Given the description of an element on the screen output the (x, y) to click on. 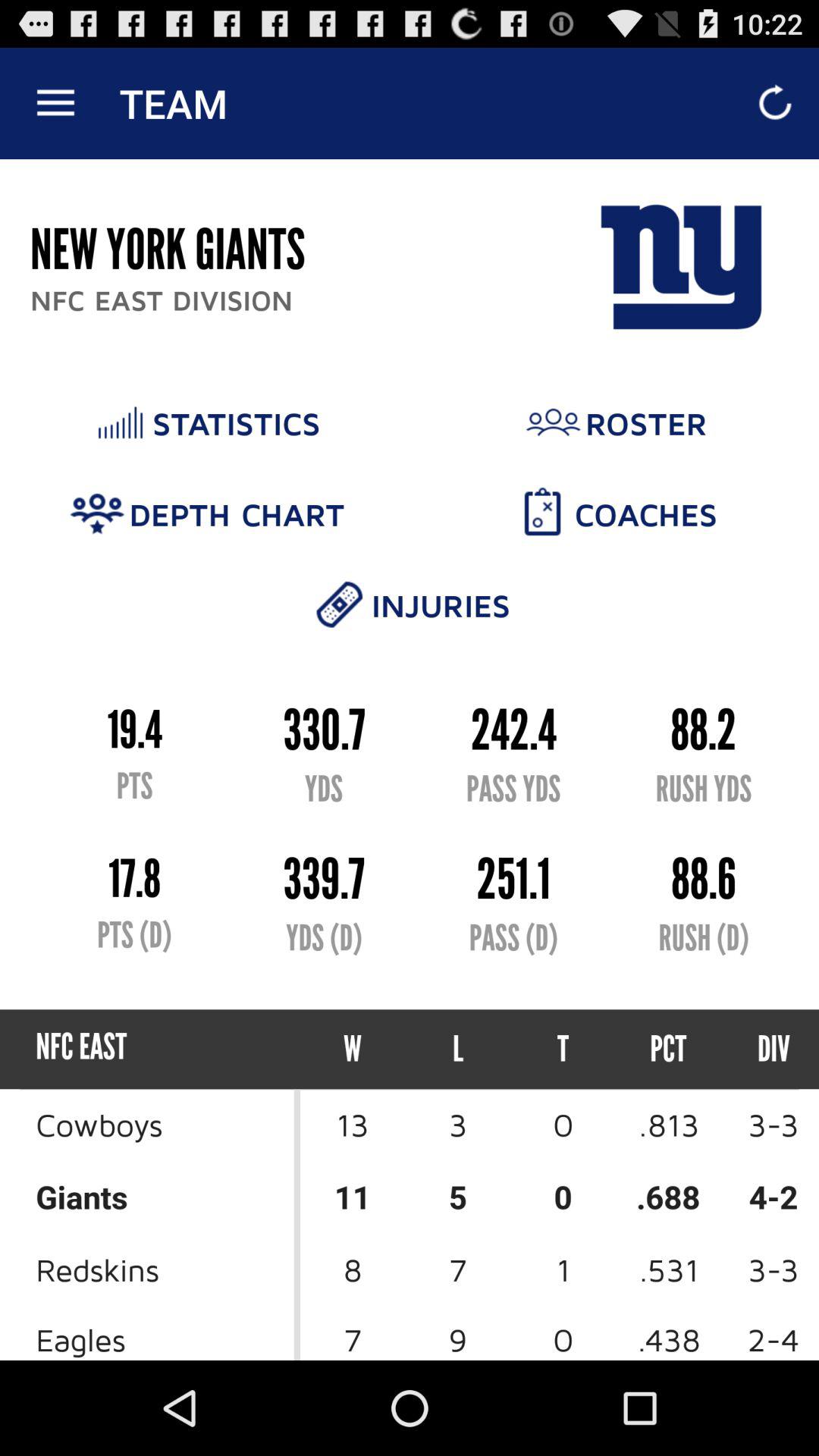
turn on the pct (668, 1049)
